Given the description of an element on the screen output the (x, y) to click on. 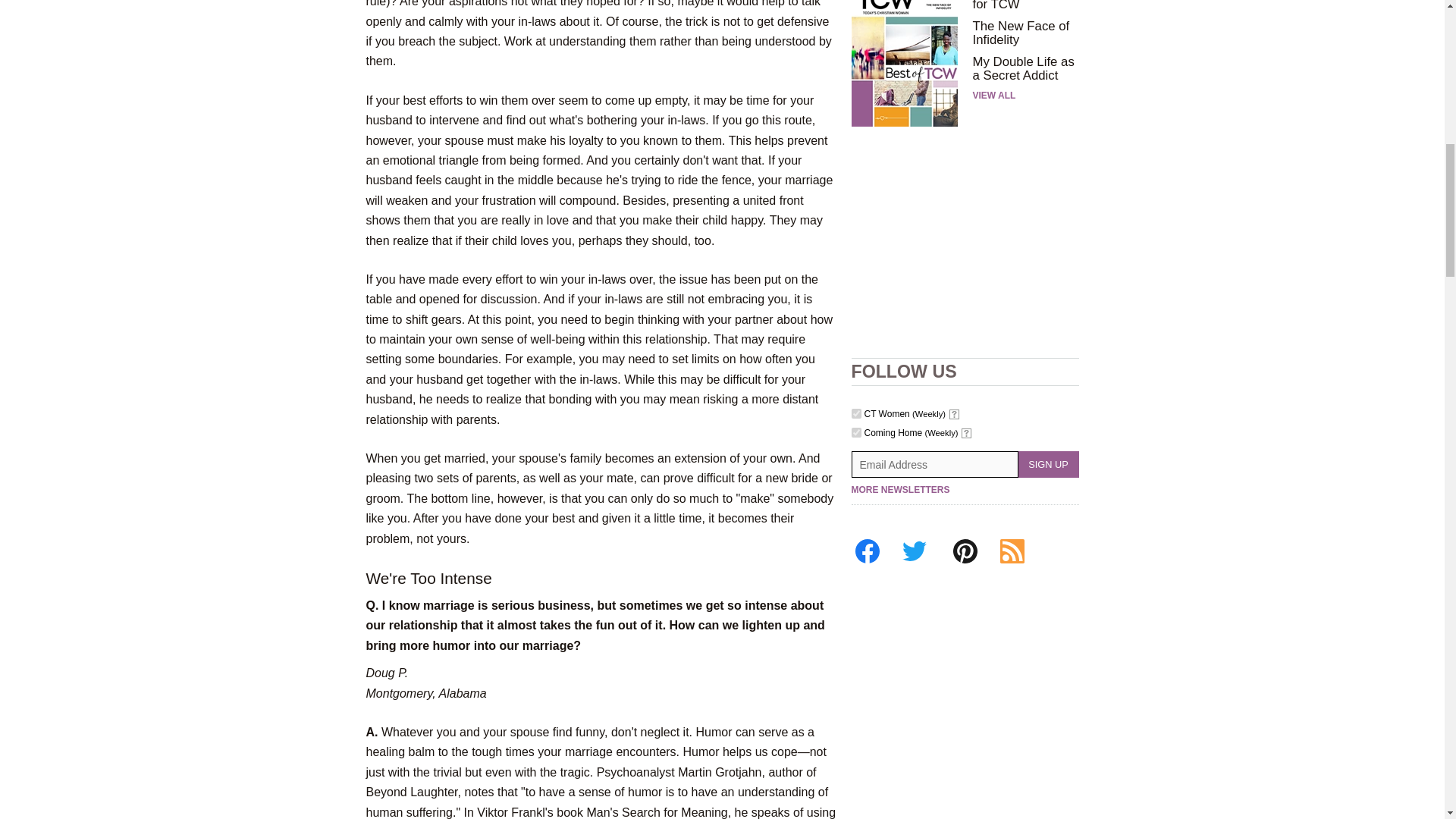
Sign Up (1047, 464)
45 (855, 432)
57 (855, 413)
